Given the description of an element on the screen output the (x, y) to click on. 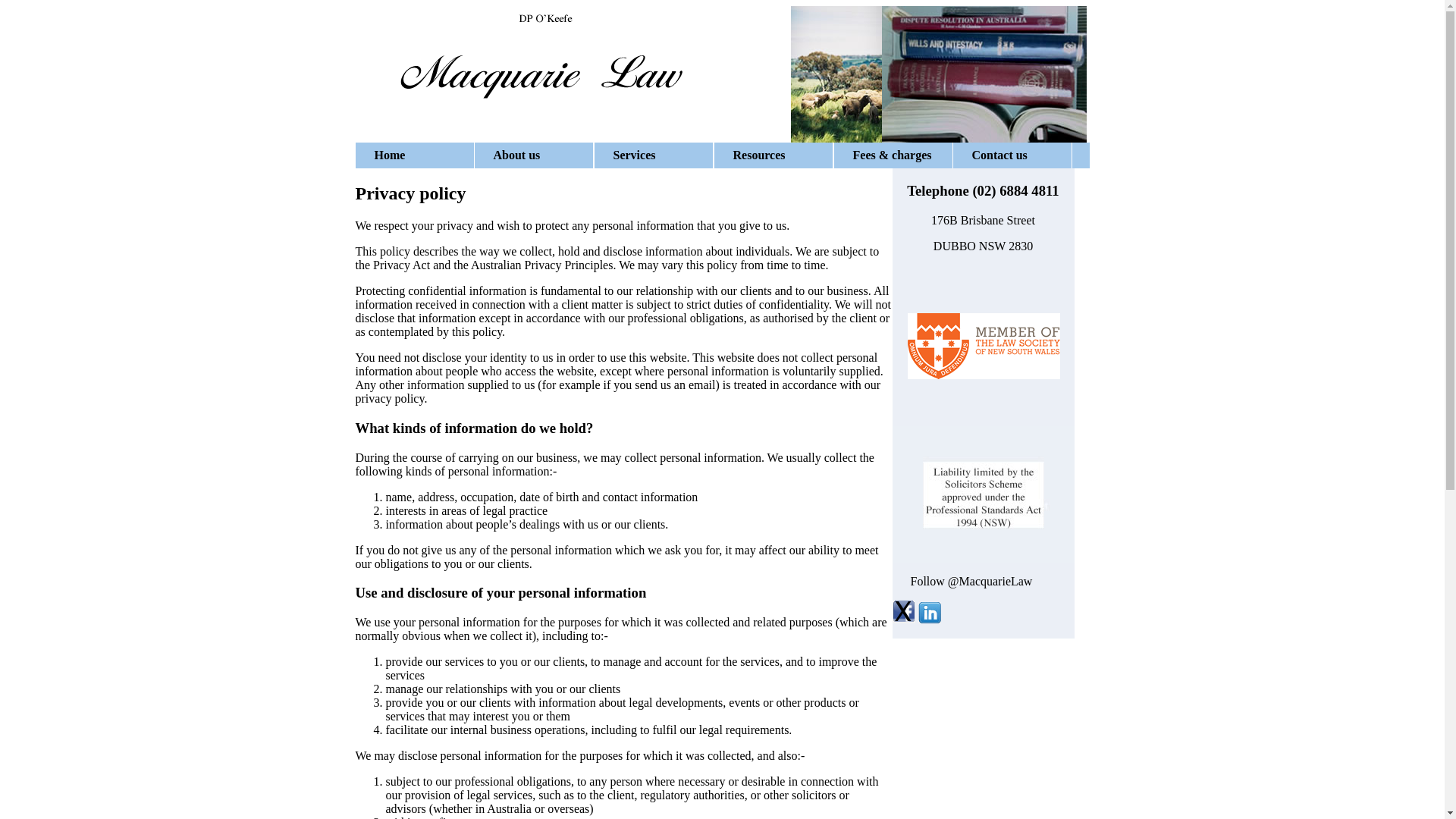
LinkedIn Dan O'Keefe Element type: hover (982, 651)
Resources Element type: text (772, 155)
Fees & charges Element type: text (892, 155)
Contact us Element type: text (1011, 155)
Services Element type: text (652, 155)
LinkedIn Dan O'Keefe Element type: hover (928, 618)
Home Element type: text (413, 155)
Follow @MacquarieLaw Element type: text (971, 580)
About us Element type: text (533, 155)
